Given the description of an element on the screen output the (x, y) to click on. 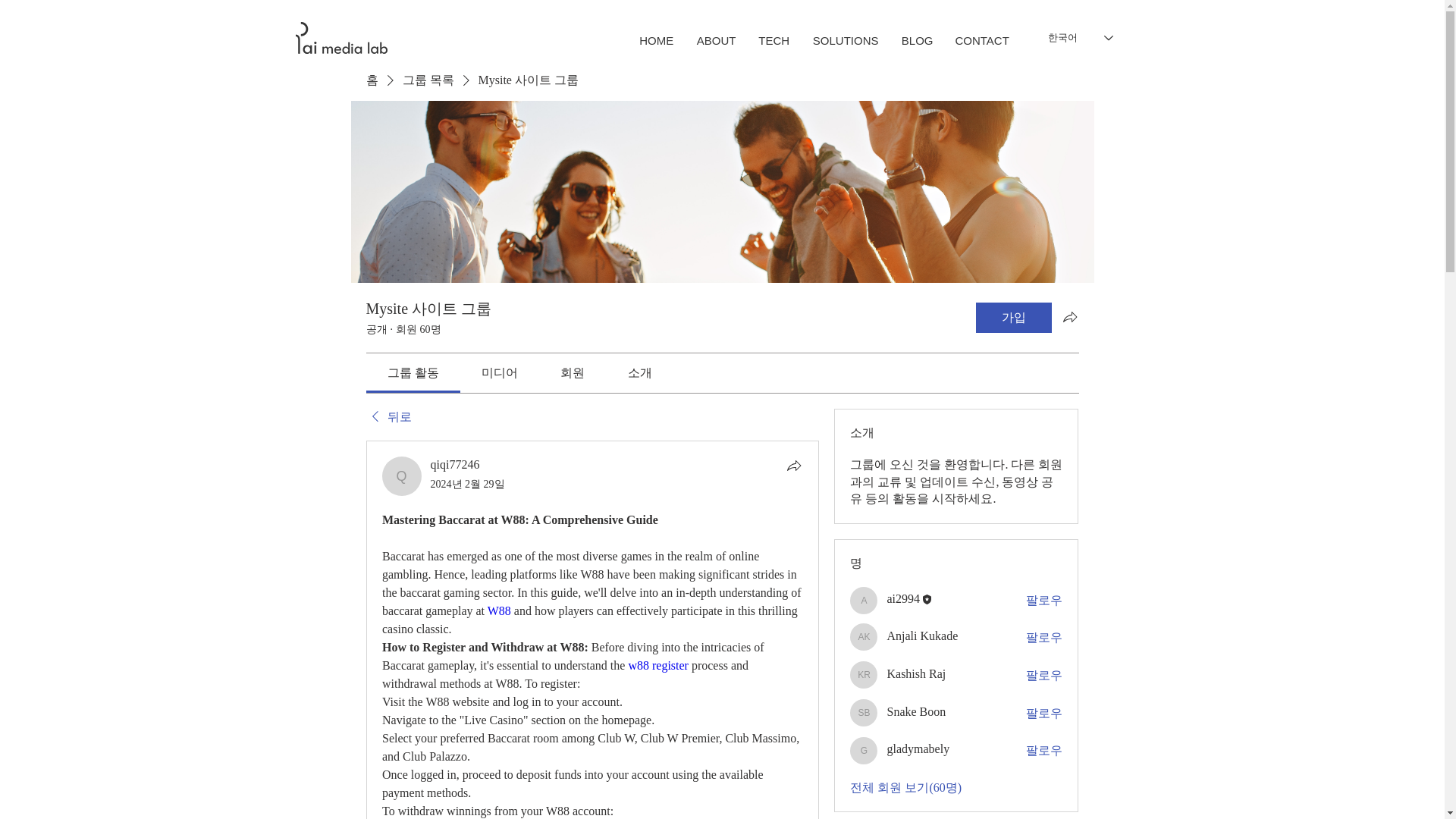
CONTACT (981, 40)
ai2994 (903, 598)
BLOG (917, 40)
qiqi77246 (455, 463)
ABOUT (716, 40)
qiqi77246 (401, 476)
Anjali Kukade (863, 636)
Kashish Raj (863, 674)
ai2994 (863, 600)
Snake Boon (863, 712)
w88 register (657, 665)
TECH (773, 40)
gladymabely (863, 750)
SOLUTIONS (845, 40)
gladymabely (917, 748)
